Given the description of an element on the screen output the (x, y) to click on. 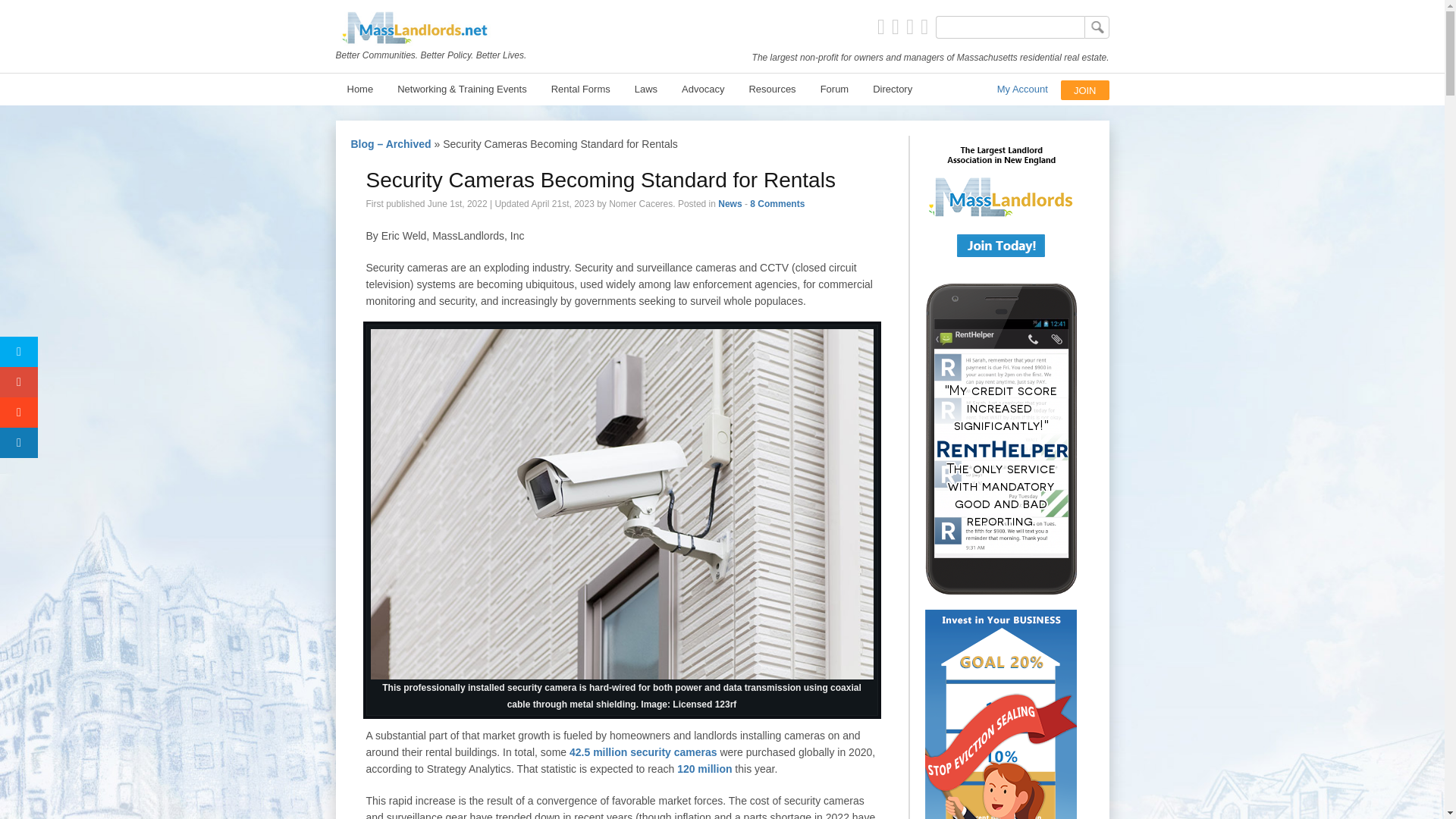
Rental Forms (580, 88)
Forum (834, 88)
Resources (771, 88)
Search (1096, 26)
42.5 million security cameras (643, 752)
Search (1096, 26)
News (729, 204)
120 million (704, 768)
8 Comments (777, 204)
Laws (645, 88)
Home (359, 88)
Directory (892, 88)
My Account (1022, 88)
JOIN (1085, 90)
Advocacy (702, 88)
